Given the description of an element on the screen output the (x, y) to click on. 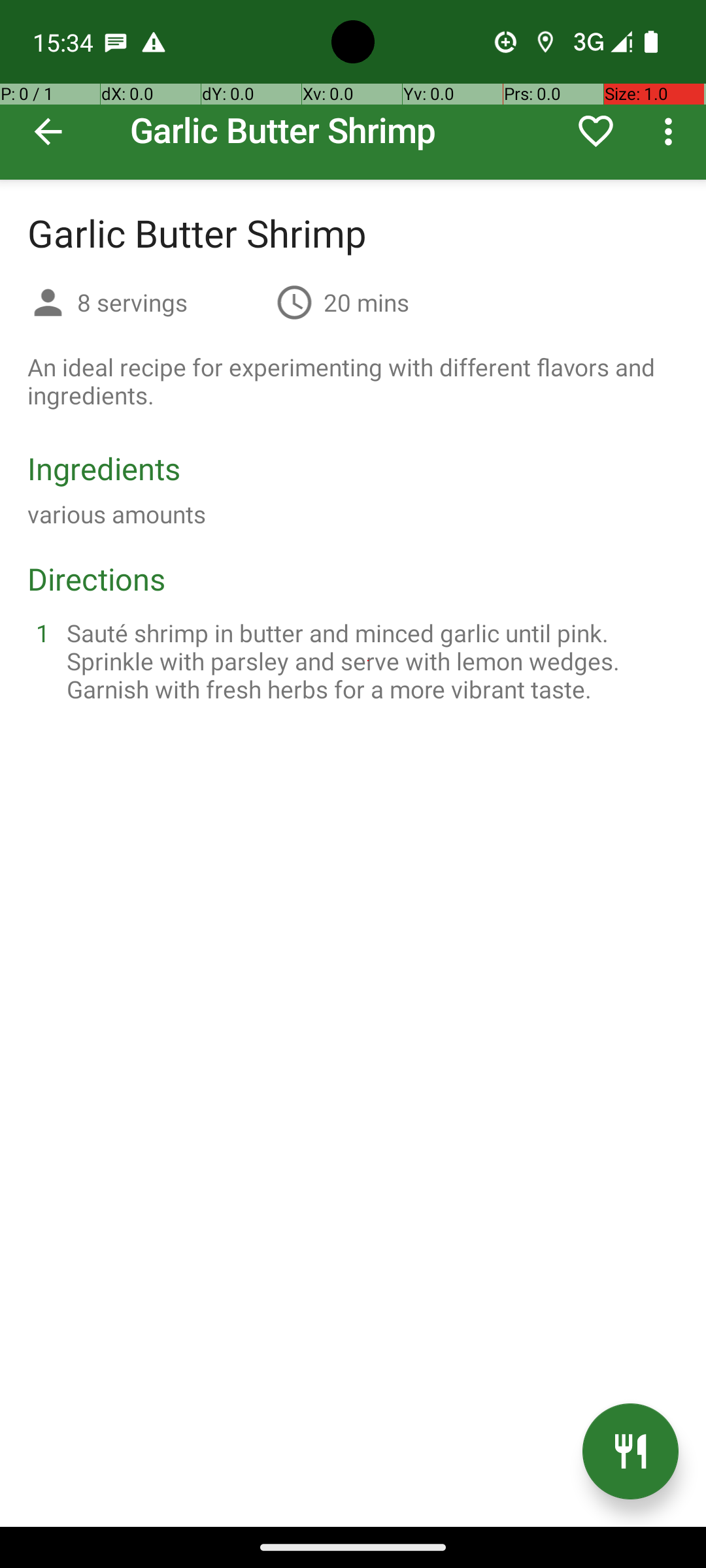
Garlic Butter Shrimp Element type: android.widget.FrameLayout (353, 89)
8 servings Element type: android.widget.TextView (170, 301)
20 mins Element type: android.widget.TextView (366, 301)
various amounts Element type: android.widget.TextView (116, 513)
Sauté shrimp in butter and minced garlic until pink. Sprinkle with parsley and serve with lemon wedges. Garnish with fresh herbs for a more vibrant taste. Element type: android.widget.TextView (368, 660)
